Given the description of an element on the screen output the (x, y) to click on. 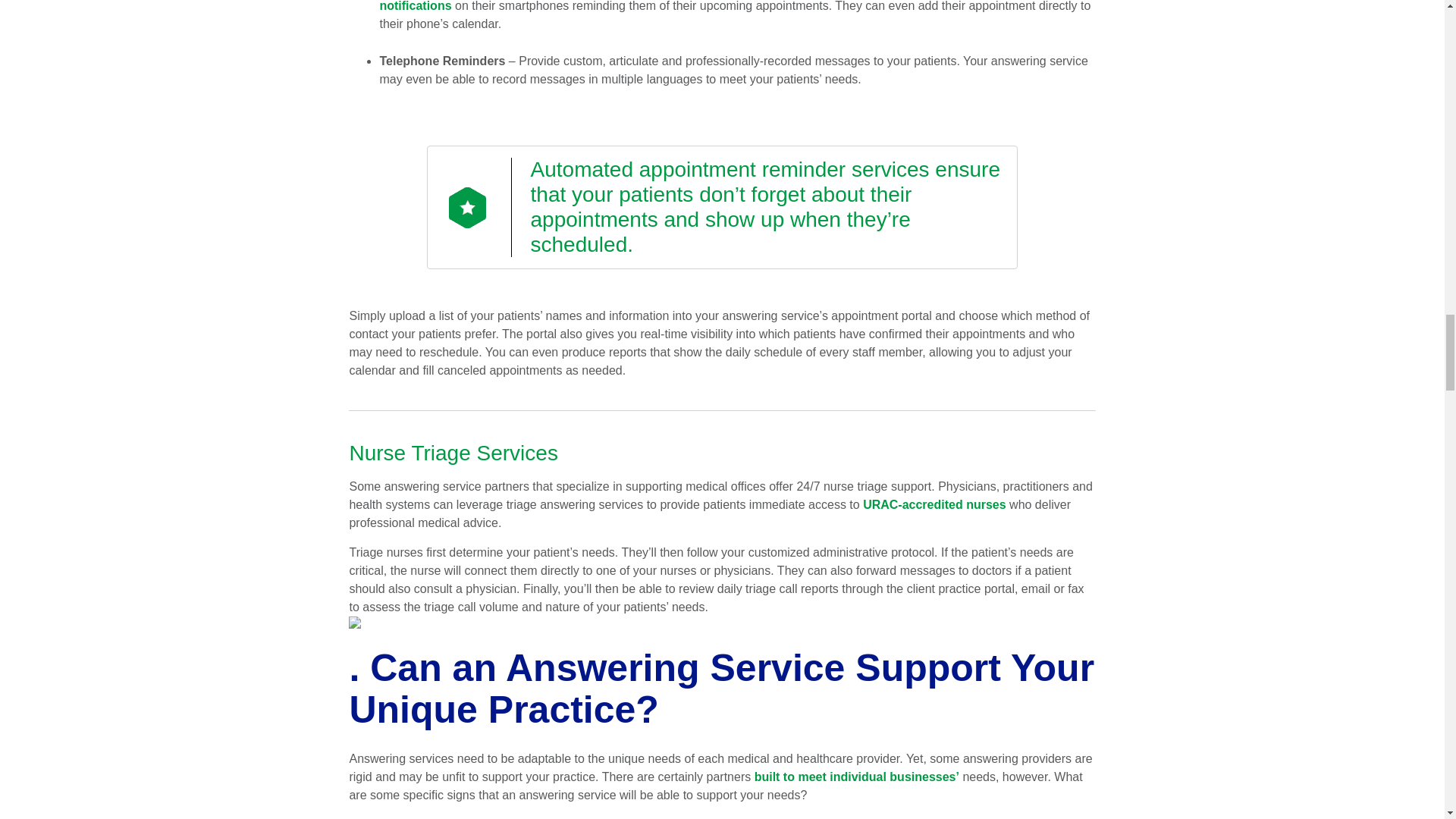
receive push notifications (712, 6)
URAC-accredited nurses (934, 504)
